Given the description of an element on the screen output the (x, y) to click on. 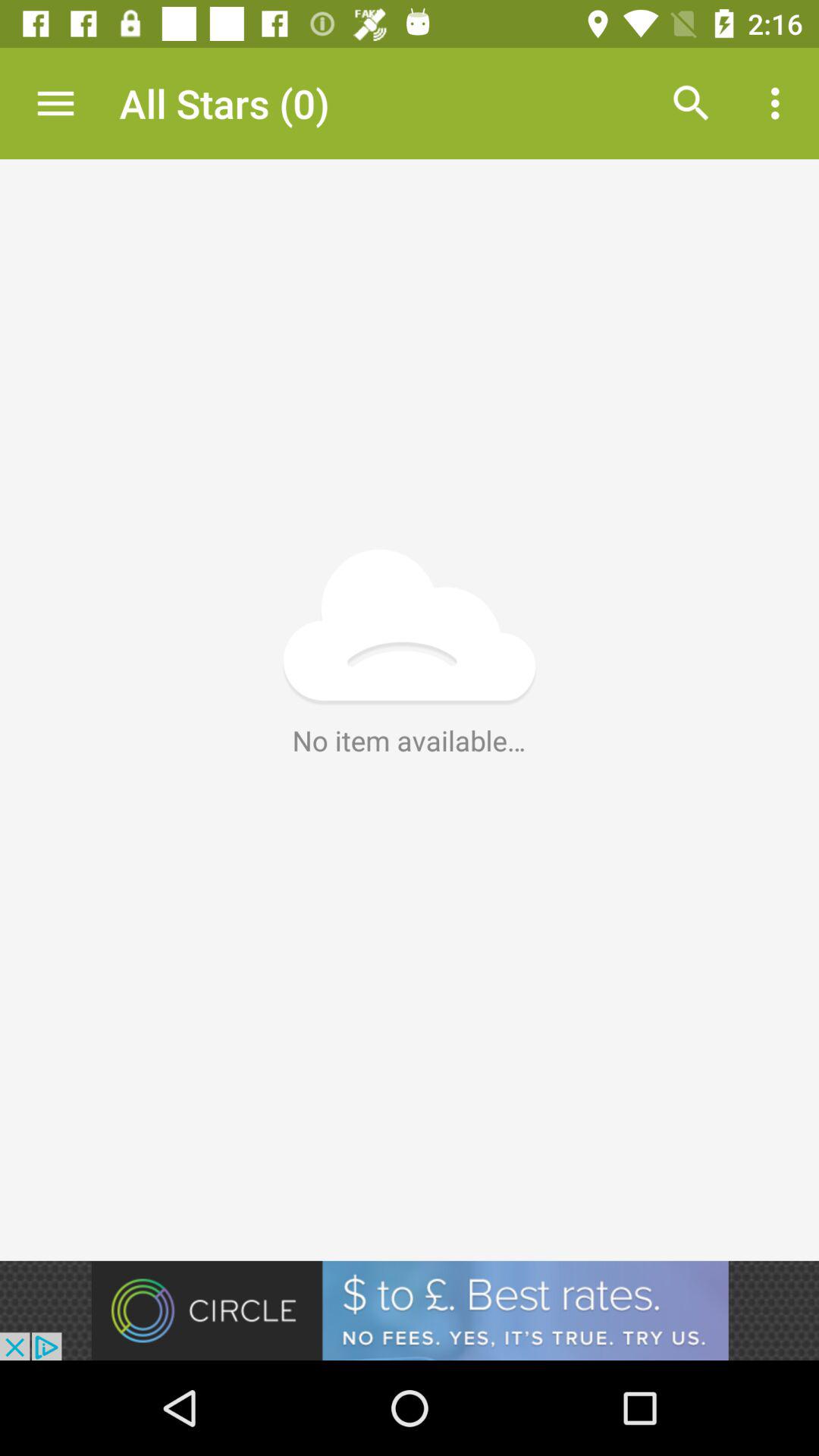
advertisement (409, 1310)
